Given the description of an element on the screen output the (x, y) to click on. 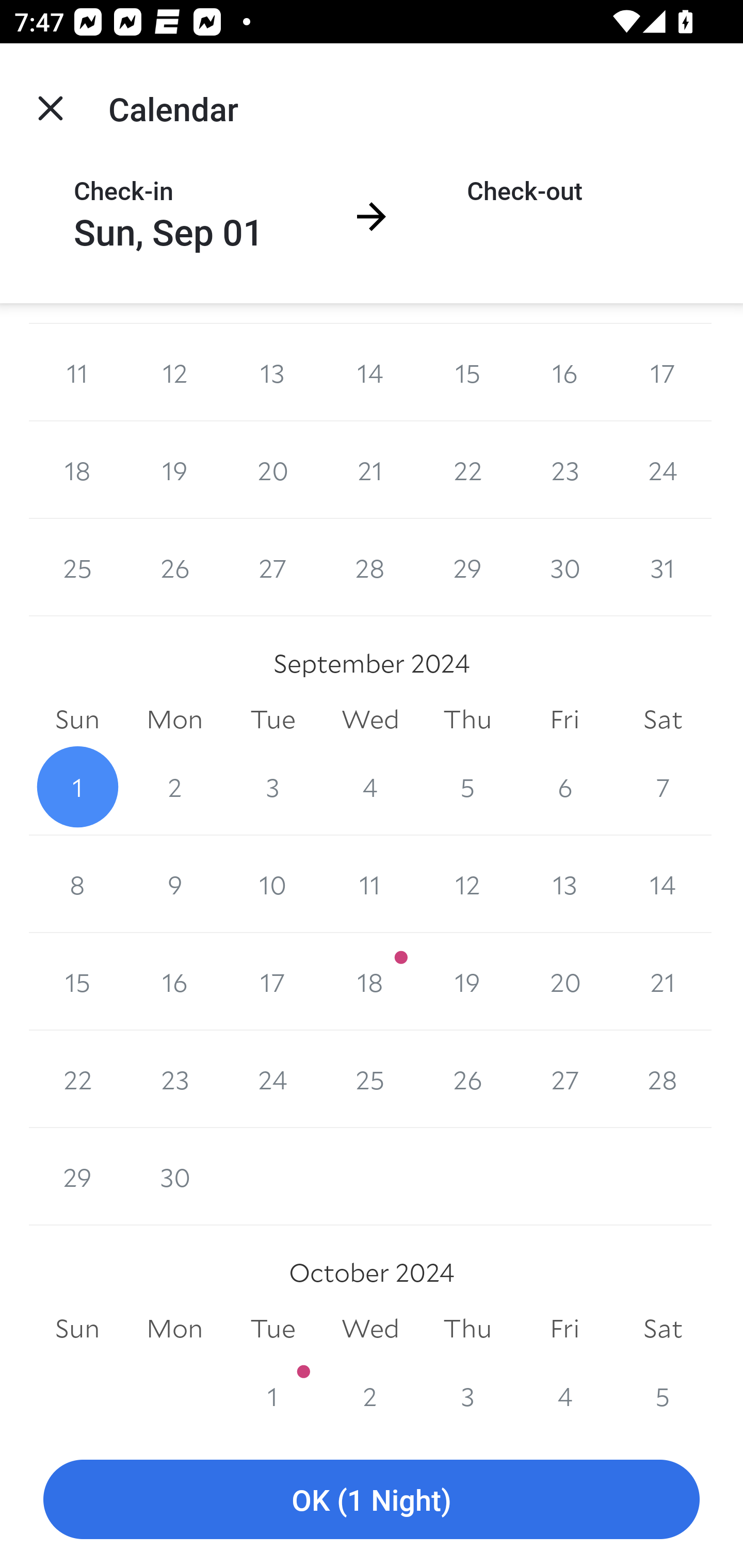
11 11 August 2024 (77, 372)
12 12 August 2024 (174, 372)
13 13 August 2024 (272, 372)
14 14 August 2024 (370, 372)
15 15 August 2024 (467, 372)
16 16 August 2024 (564, 372)
17 17 August 2024 (662, 372)
18 18 August 2024 (77, 470)
19 19 August 2024 (174, 470)
20 20 August 2024 (272, 470)
21 21 August 2024 (370, 470)
22 22 August 2024 (467, 470)
23 23 August 2024 (564, 470)
24 24 August 2024 (662, 470)
25 25 August 2024 (77, 567)
26 26 August 2024 (174, 567)
27 27 August 2024 (272, 567)
28 28 August 2024 (370, 567)
29 29 August 2024 (467, 567)
30 30 August 2024 (564, 567)
31 31 August 2024 (662, 567)
Sun (77, 719)
Mon (174, 719)
Tue (272, 719)
Wed (370, 719)
Thu (467, 719)
Fri (564, 719)
Sat (662, 719)
1 1 September 2024 (77, 786)
2 2 September 2024 (174, 786)
3 3 September 2024 (272, 786)
4 4 September 2024 (370, 786)
5 5 September 2024 (467, 786)
6 6 September 2024 (564, 786)
7 7 September 2024 (662, 786)
8 8 September 2024 (77, 883)
9 9 September 2024 (174, 883)
10 10 September 2024 (272, 883)
11 11 September 2024 (370, 883)
12 12 September 2024 (467, 883)
13 13 September 2024 (564, 883)
14 14 September 2024 (662, 883)
15 15 September 2024 (77, 981)
16 16 September 2024 (174, 981)
17 17 September 2024 (272, 981)
18 18 September 2024 (370, 981)
19 19 September 2024 (467, 981)
20 20 September 2024 (564, 981)
21 21 September 2024 (662, 981)
